Given the description of an element on the screen output the (x, y) to click on. 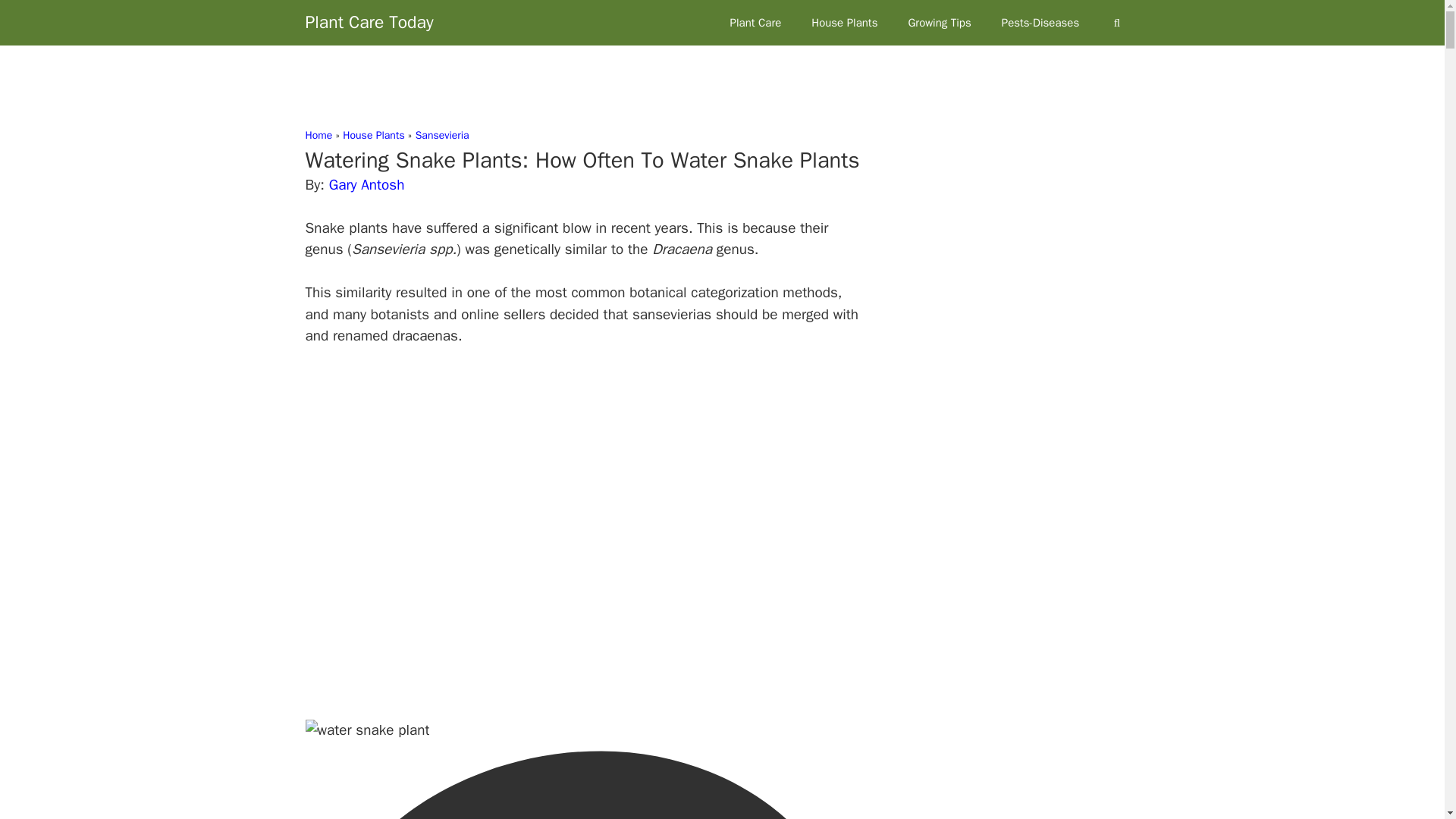
House Plants (844, 22)
House Plants (373, 134)
Plant Care Today (368, 22)
Sansevieria (441, 134)
Pests-Diseases (1040, 22)
Gary Antosh (366, 185)
Plant Care (755, 22)
Home (317, 134)
Growing Tips (938, 22)
